Given the description of an element on the screen output the (x, y) to click on. 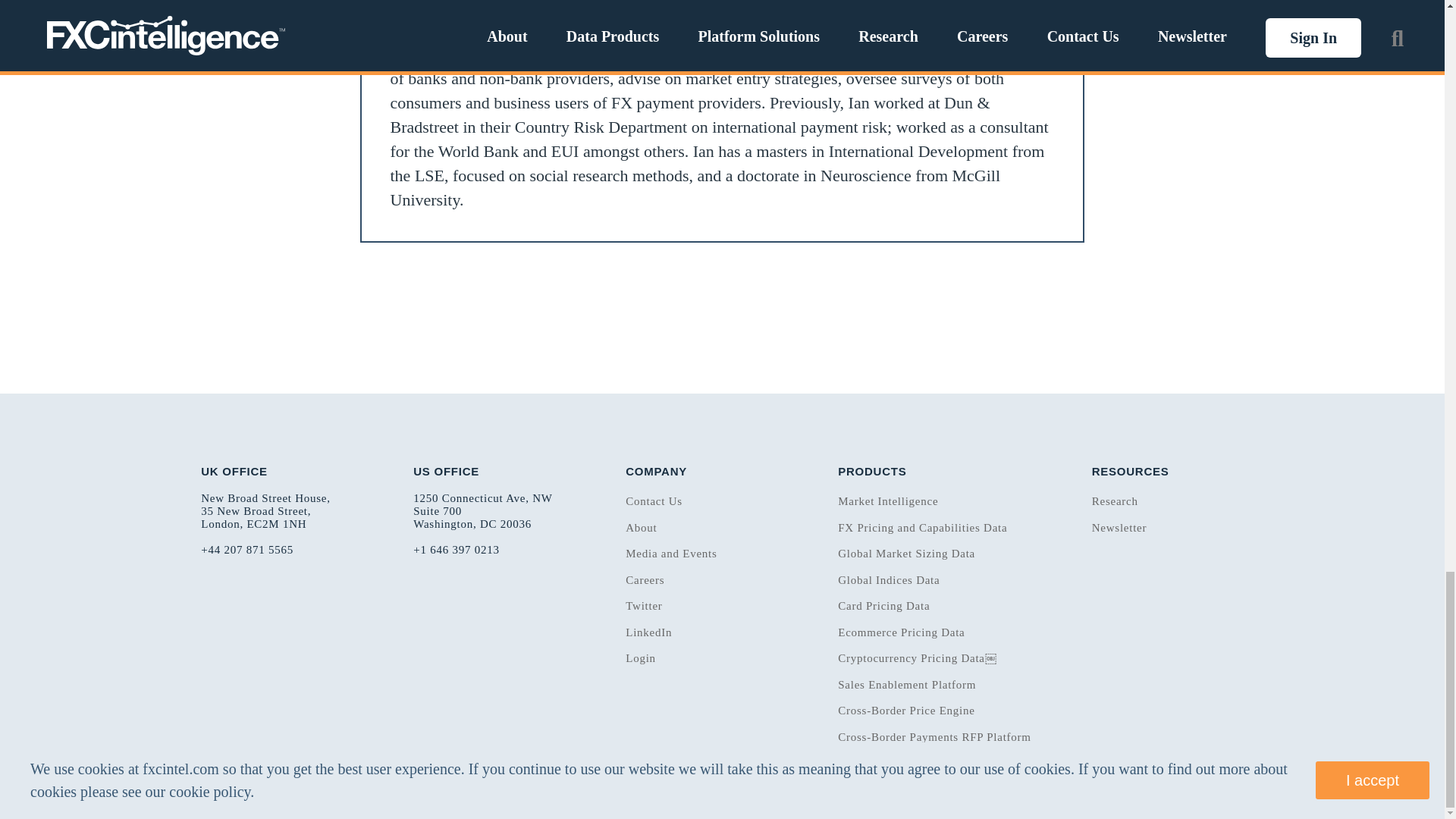
LinkedIn (1019, 2)
Contact Us (654, 500)
LinkedIn (963, 0)
